Given the description of an element on the screen output the (x, y) to click on. 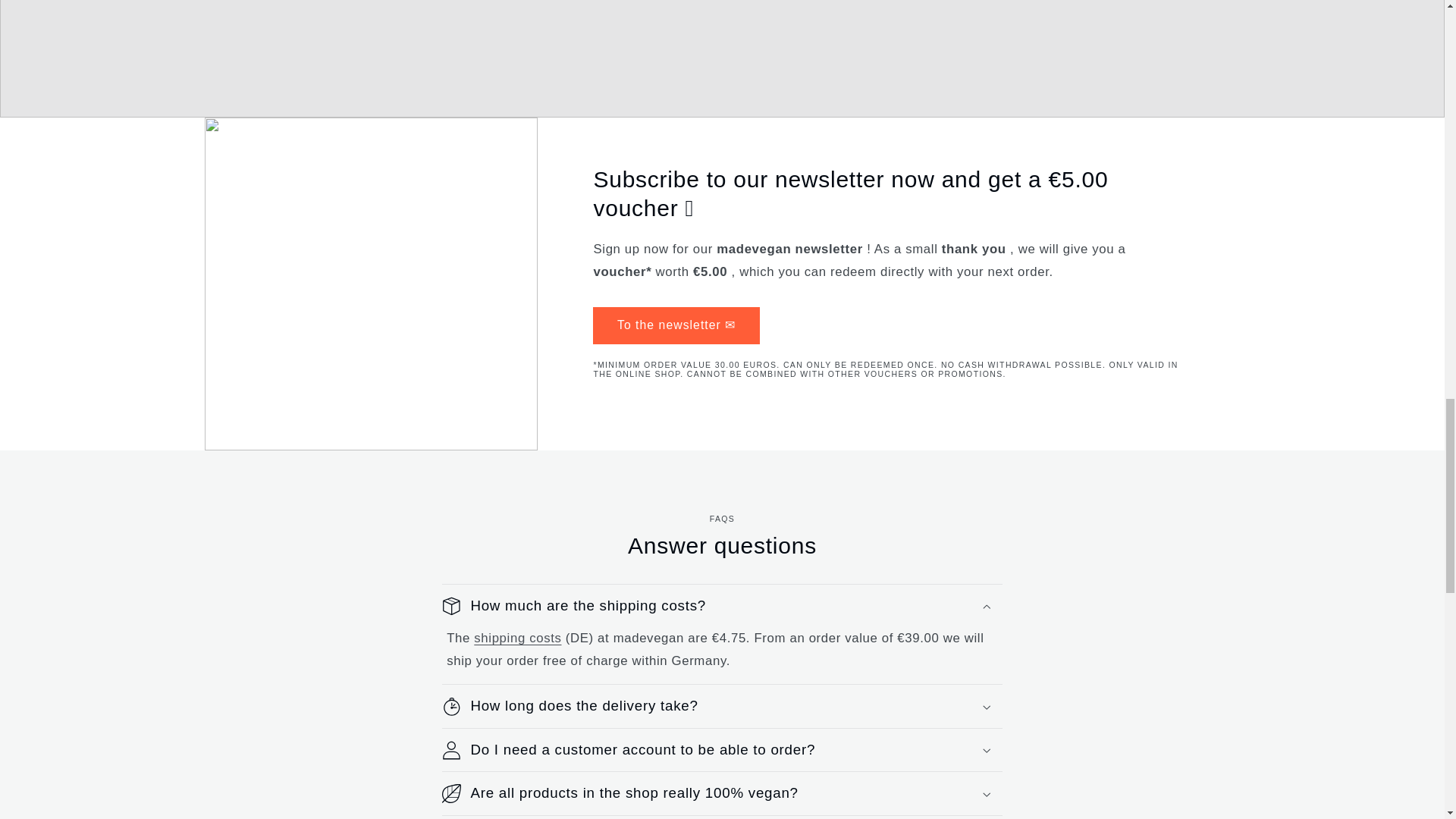
Shipping Policy (517, 637)
